Given the description of an element on the screen output the (x, y) to click on. 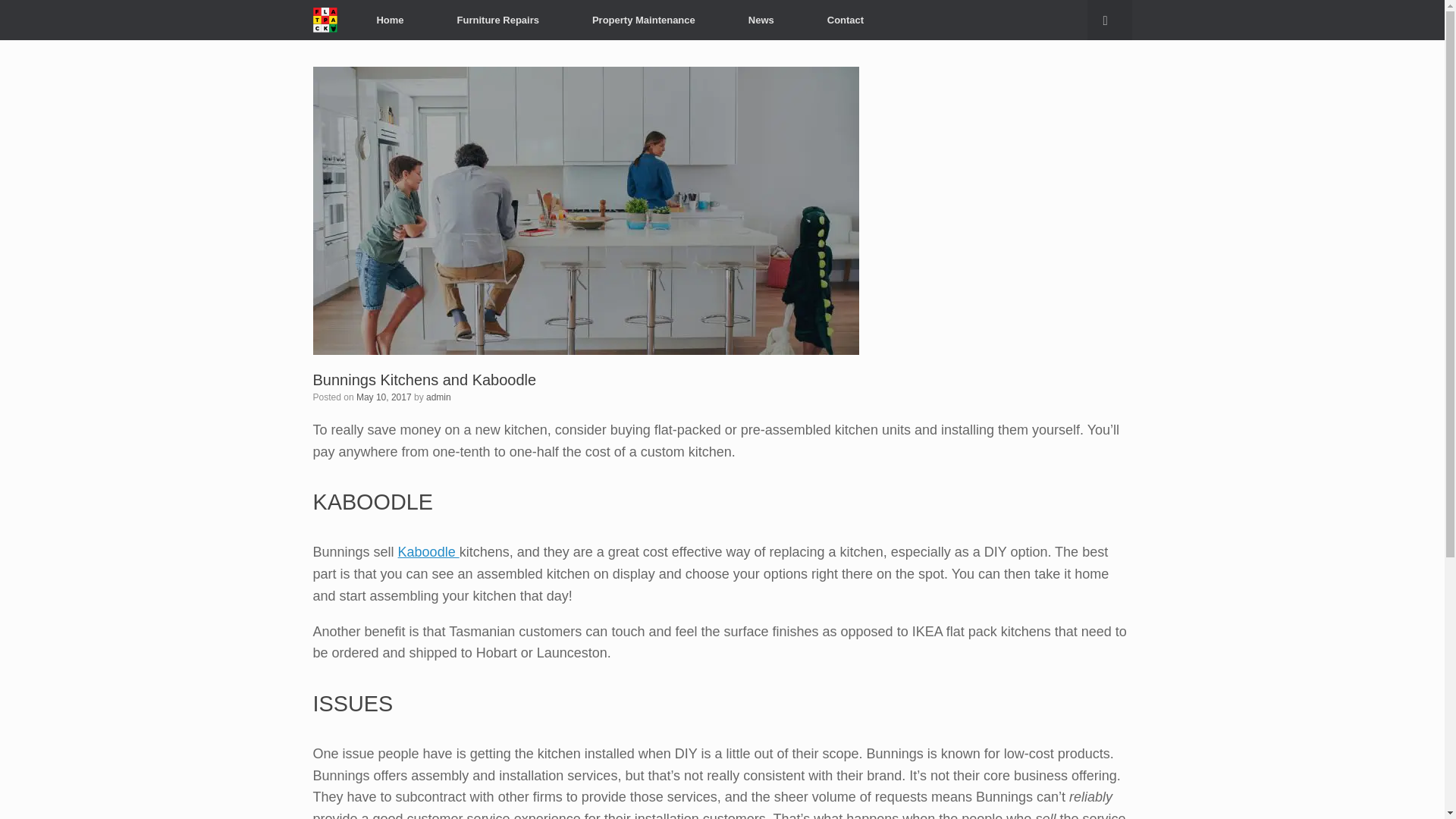
Flat Pack Tasmania (325, 20)
May 10, 2017 (384, 397)
Property Maintenance (644, 20)
2:48 am (384, 397)
News (761, 20)
Furniture Repairs (498, 20)
admin (438, 397)
Contact (844, 20)
View all posts by admin (438, 397)
Kaboodle (428, 551)
Home (389, 20)
